Given the description of an element on the screen output the (x, y) to click on. 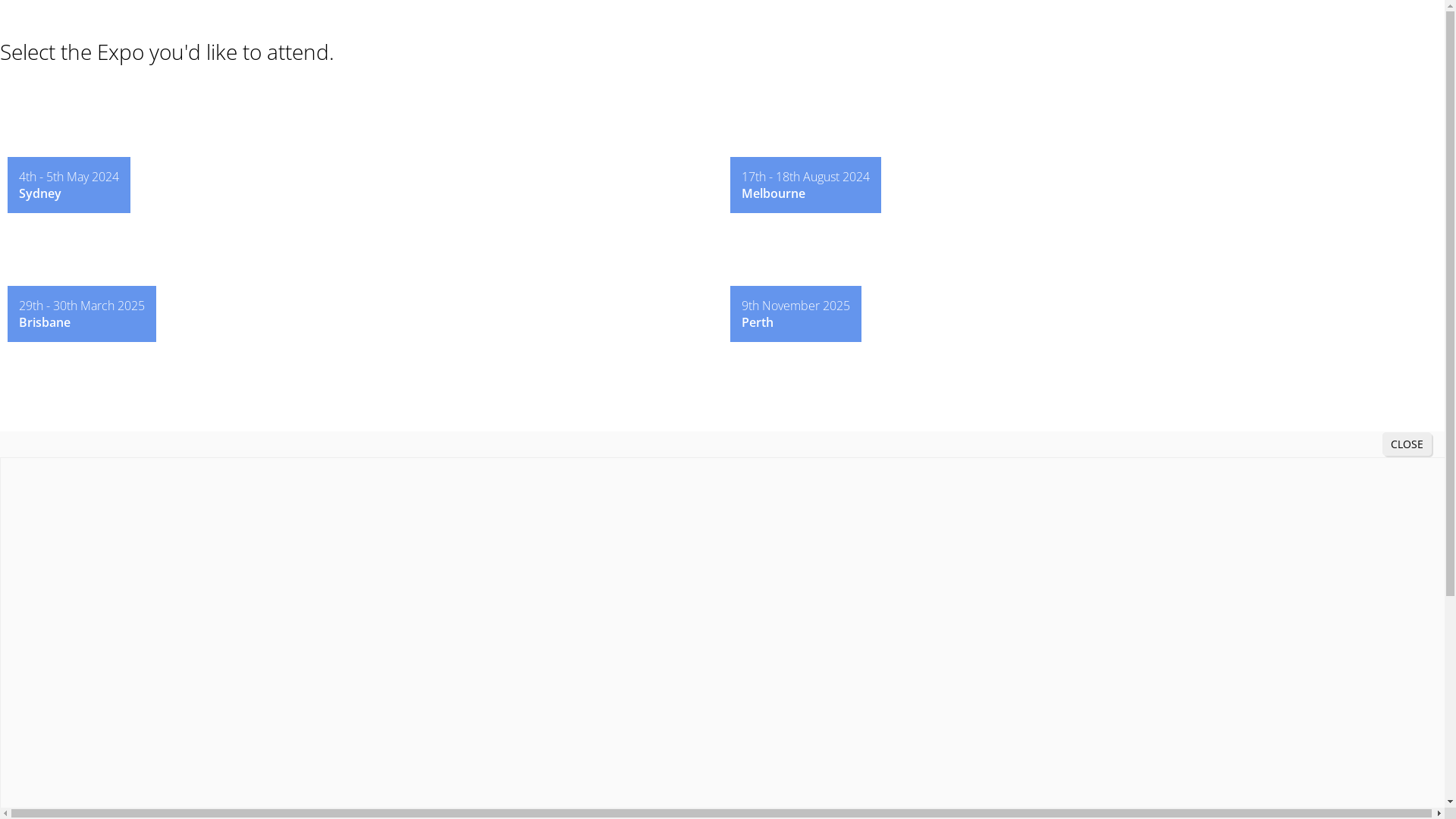
CLOSE Element type: text (1406, 443)
